Given the description of an element on the screen output the (x, y) to click on. 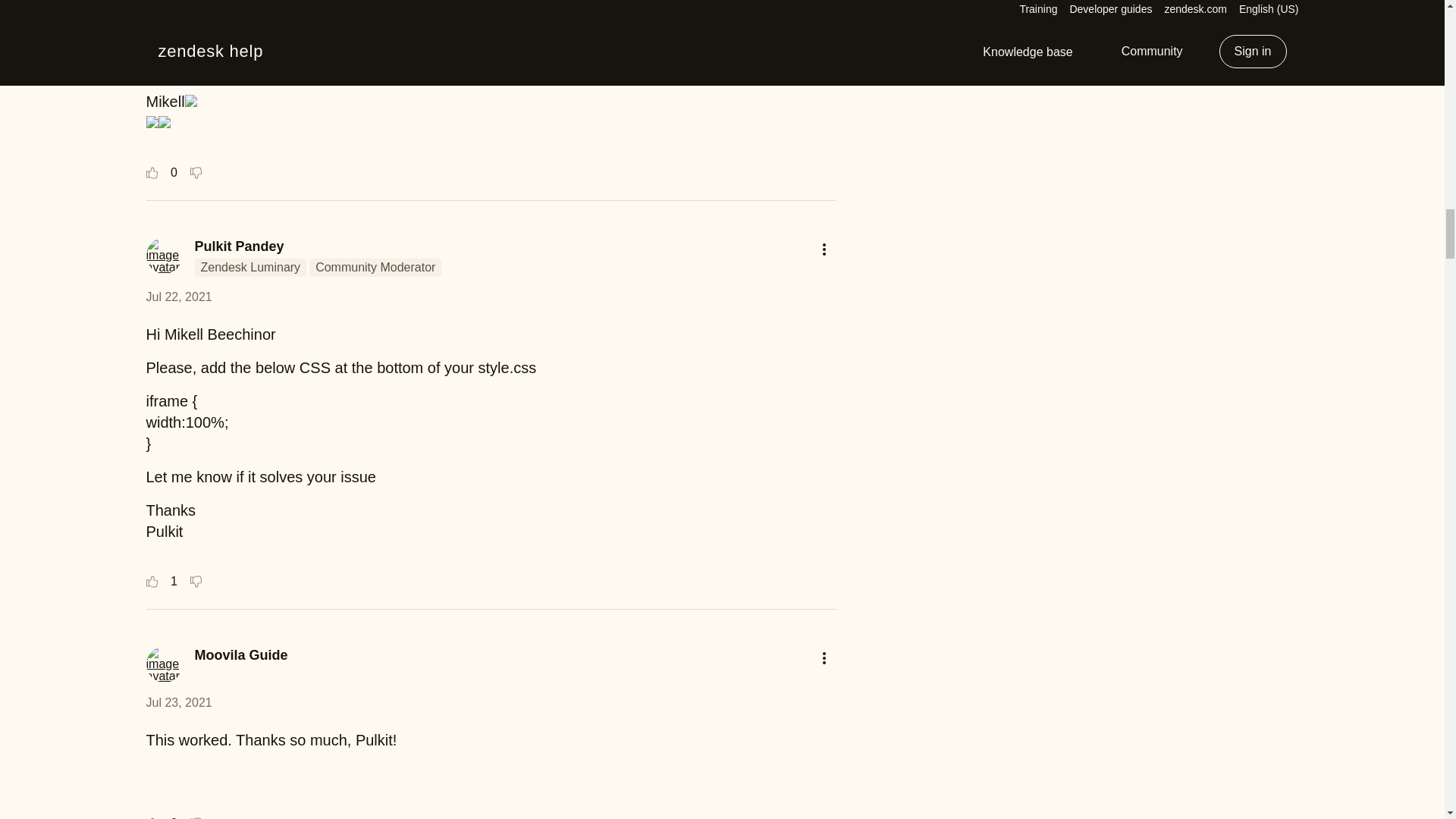
This user is a member of the Zendesk Luminaries program (249, 267)
Jul 23, 2021 (178, 702)
Jul 22, 2021 (178, 296)
